Given the description of an element on the screen output the (x, y) to click on. 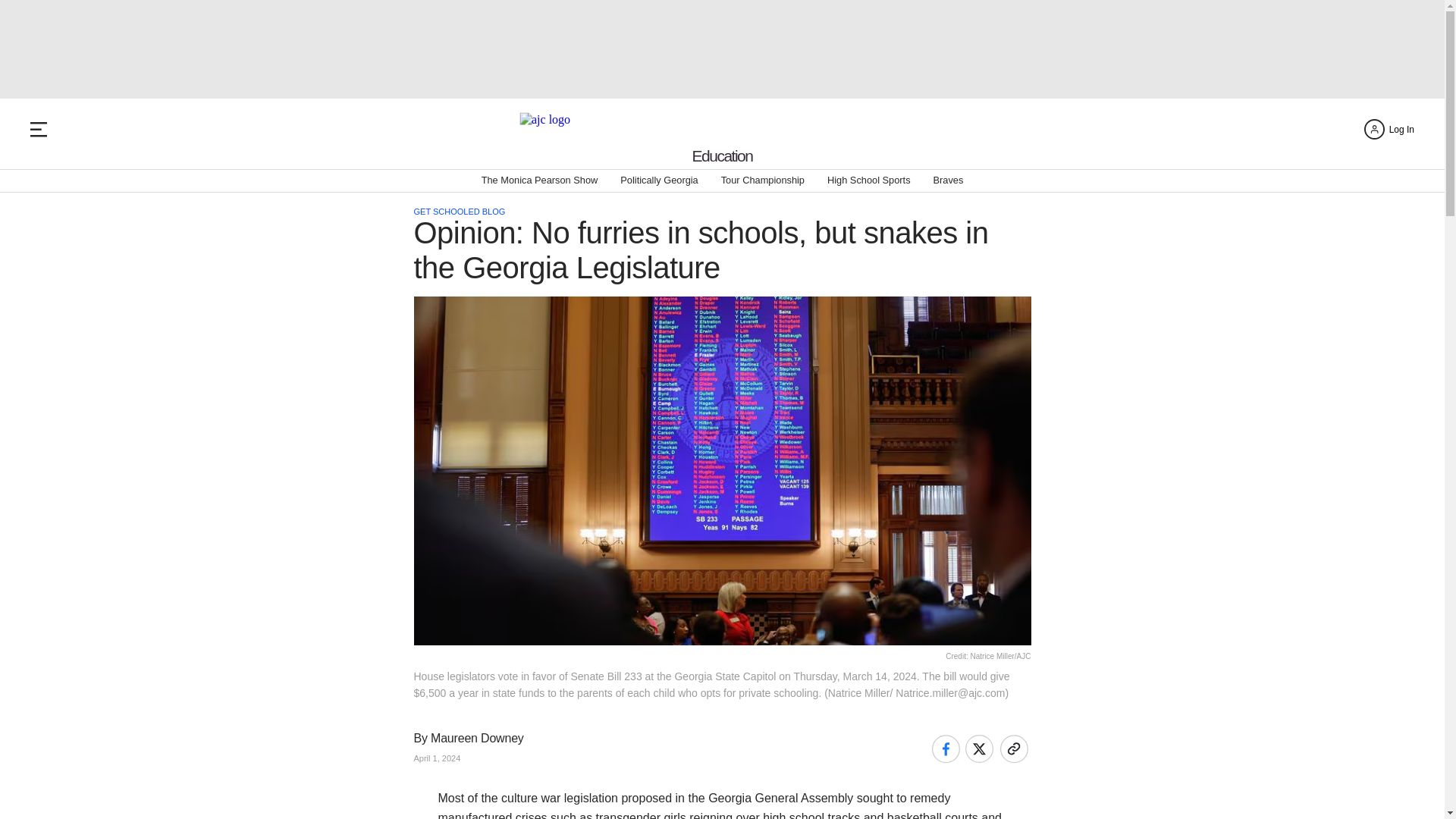
The Monica Pearson Show (539, 180)
Tour Championship (762, 180)
Braves (948, 180)
Politically Georgia (658, 180)
High School Sports (869, 180)
Education (722, 155)
